Given the description of an element on the screen output the (x, y) to click on. 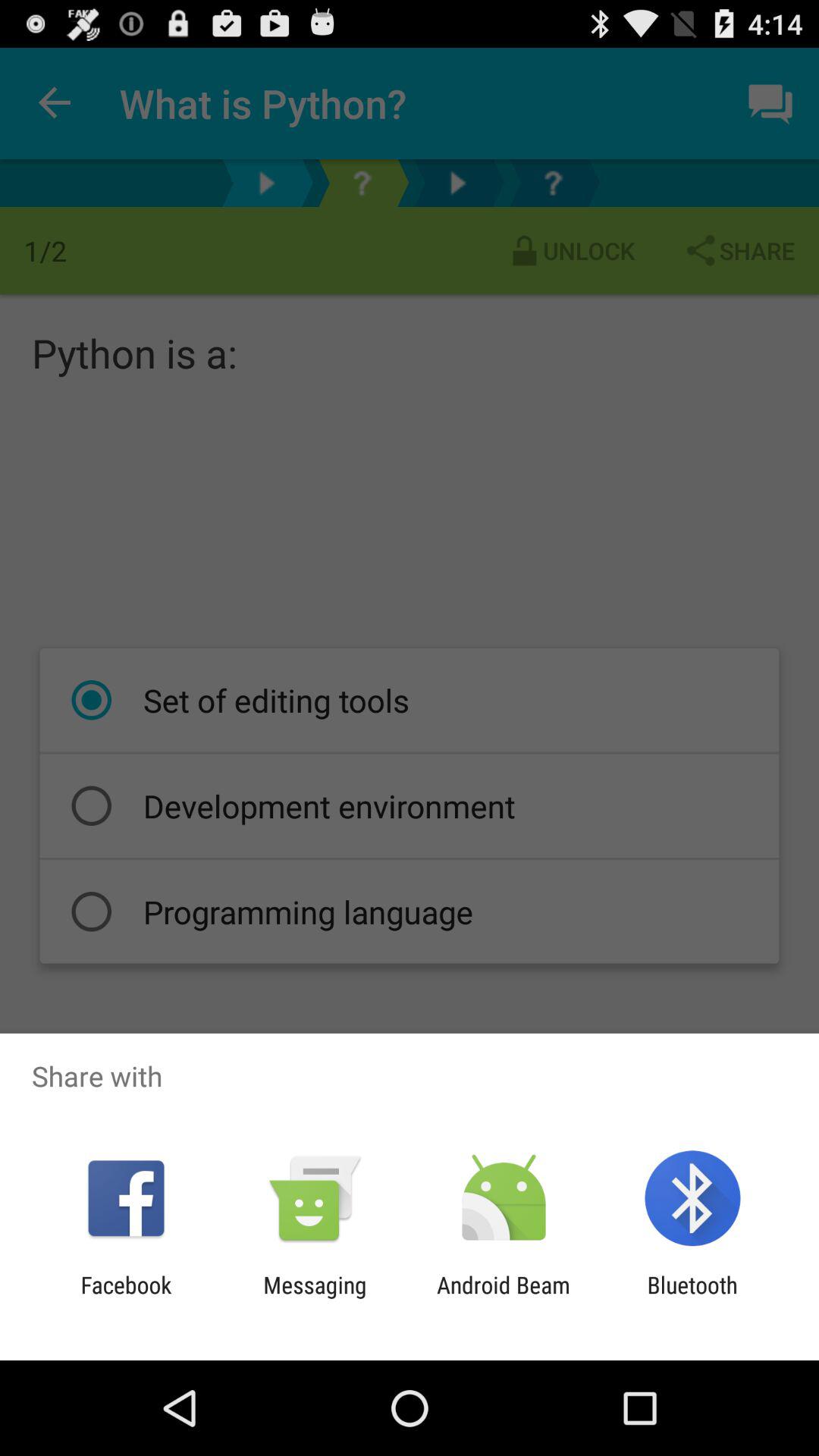
open messaging icon (314, 1298)
